Given the description of an element on the screen output the (x, y) to click on. 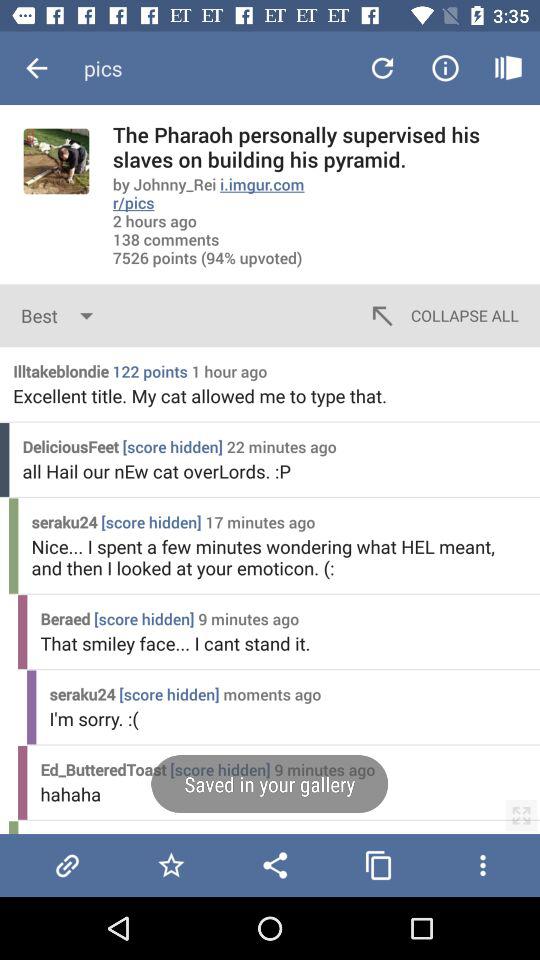
open link (67, 865)
